Given the description of an element on the screen output the (x, y) to click on. 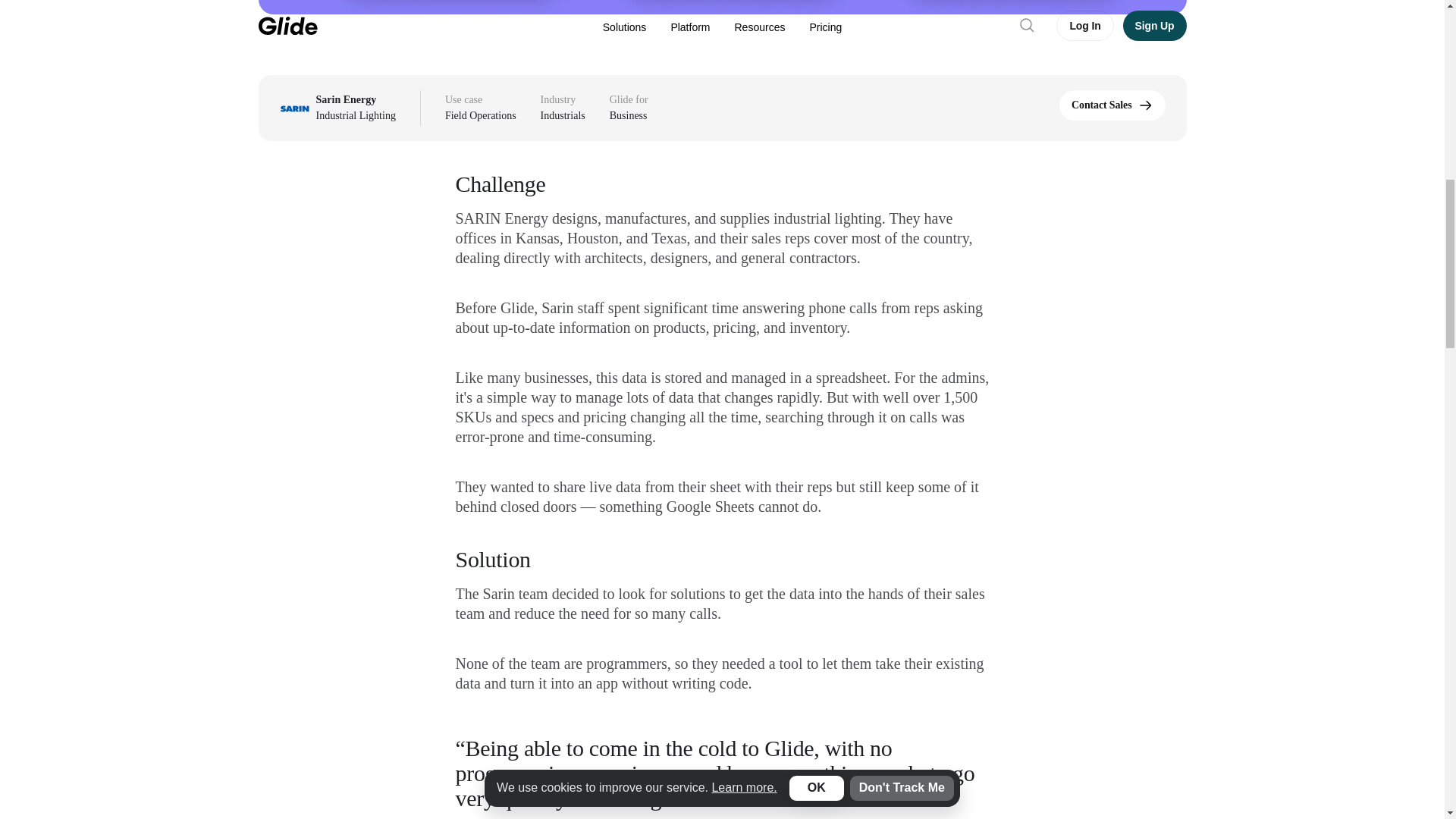
Contact Sales (1111, 105)
